Given the description of an element on the screen output the (x, y) to click on. 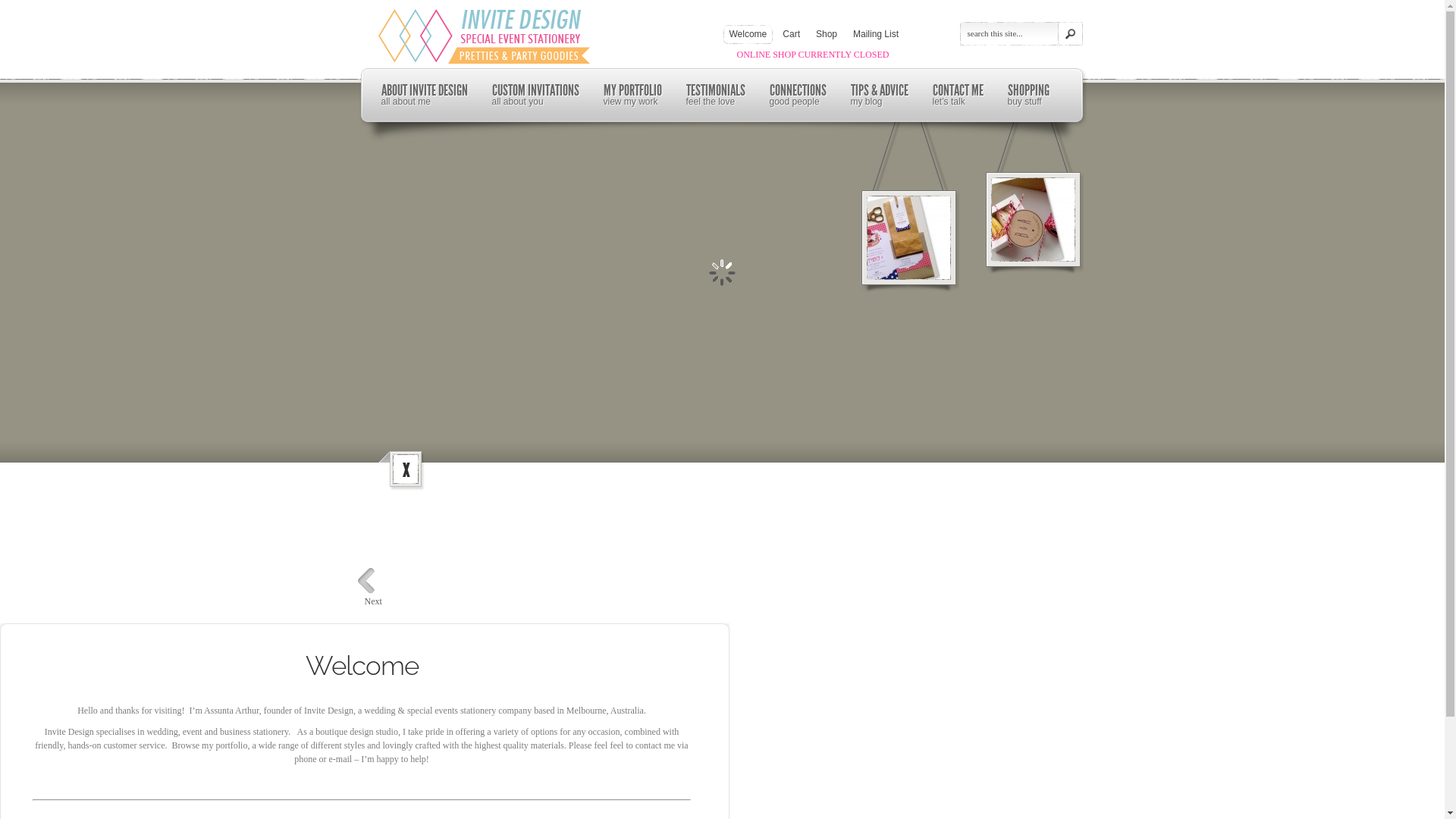
ABOUT INVITE DESIGN
all about me Element type: text (423, 95)
Next Element type: text (372, 601)
SHOPPING
buy stuff Element type: text (1027, 95)
X Element type: text (404, 470)
CONNECTIONS
good people Element type: text (796, 95)
Welcome Element type: text (745, 34)
Shop Element type: text (823, 34)
MY PORTFOLIO
view my work Element type: text (632, 95)
TIPS & ADVICE
my blog Element type: text (879, 95)
Mailing List Element type: text (872, 34)
TESTIMONIALS
feel the love Element type: text (714, 95)
Cart Element type: text (788, 34)
CUSTOM INVITATIONS
all about you Element type: text (534, 95)
Previous Element type: text (366, 580)
